Given the description of an element on the screen output the (x, y) to click on. 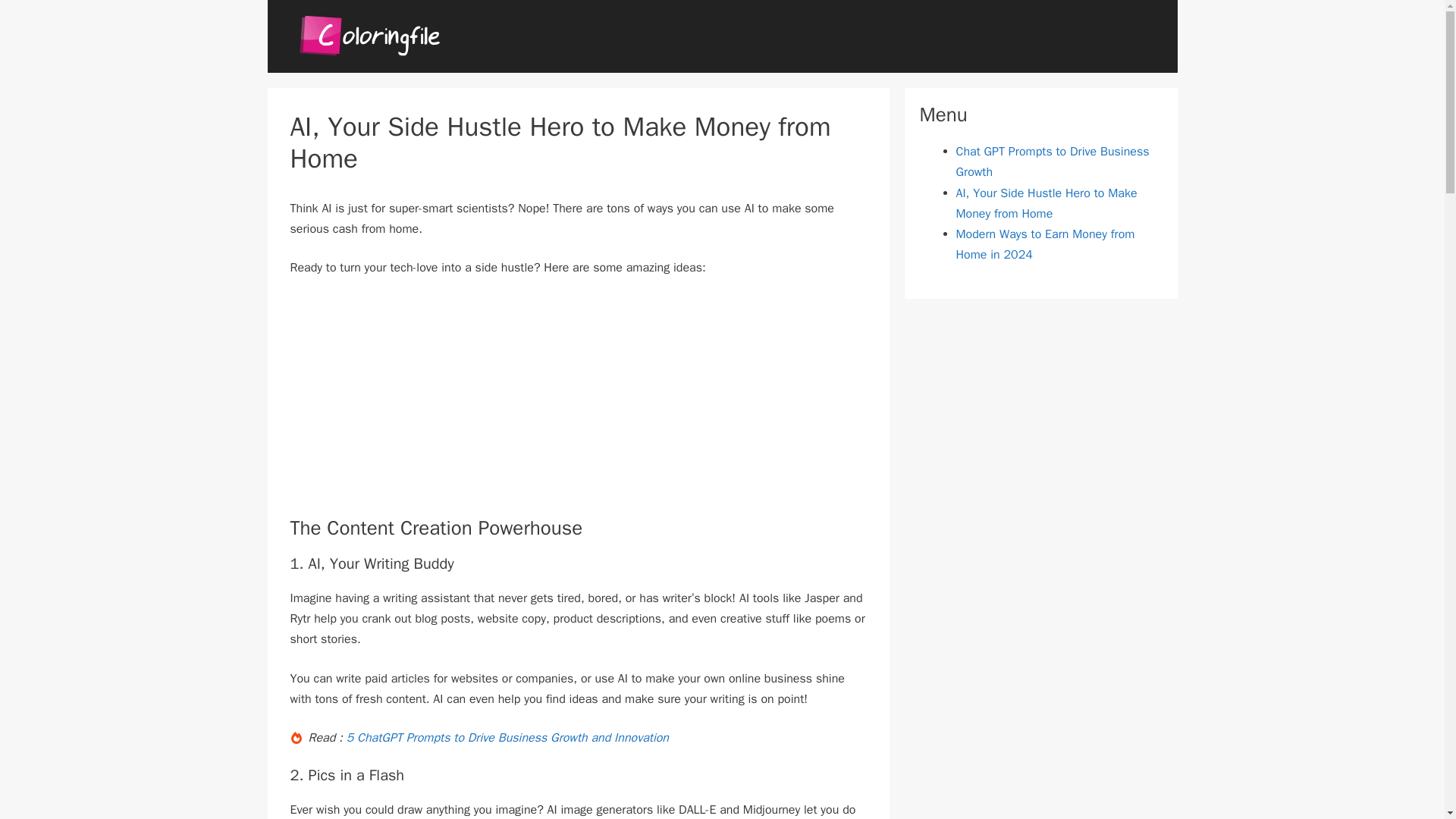
Advertisement (416, 403)
5 ChatGPT Prompts to Drive Business Growth and Innovation (507, 737)
Modern Ways to Earn Money from Home in 2024 (1044, 244)
Chat GPT Prompts to Drive Business Growth (1051, 161)
AI, Your Side Hustle Hero to Make Money from Home (1046, 203)
